Given the description of an element on the screen output the (x, y) to click on. 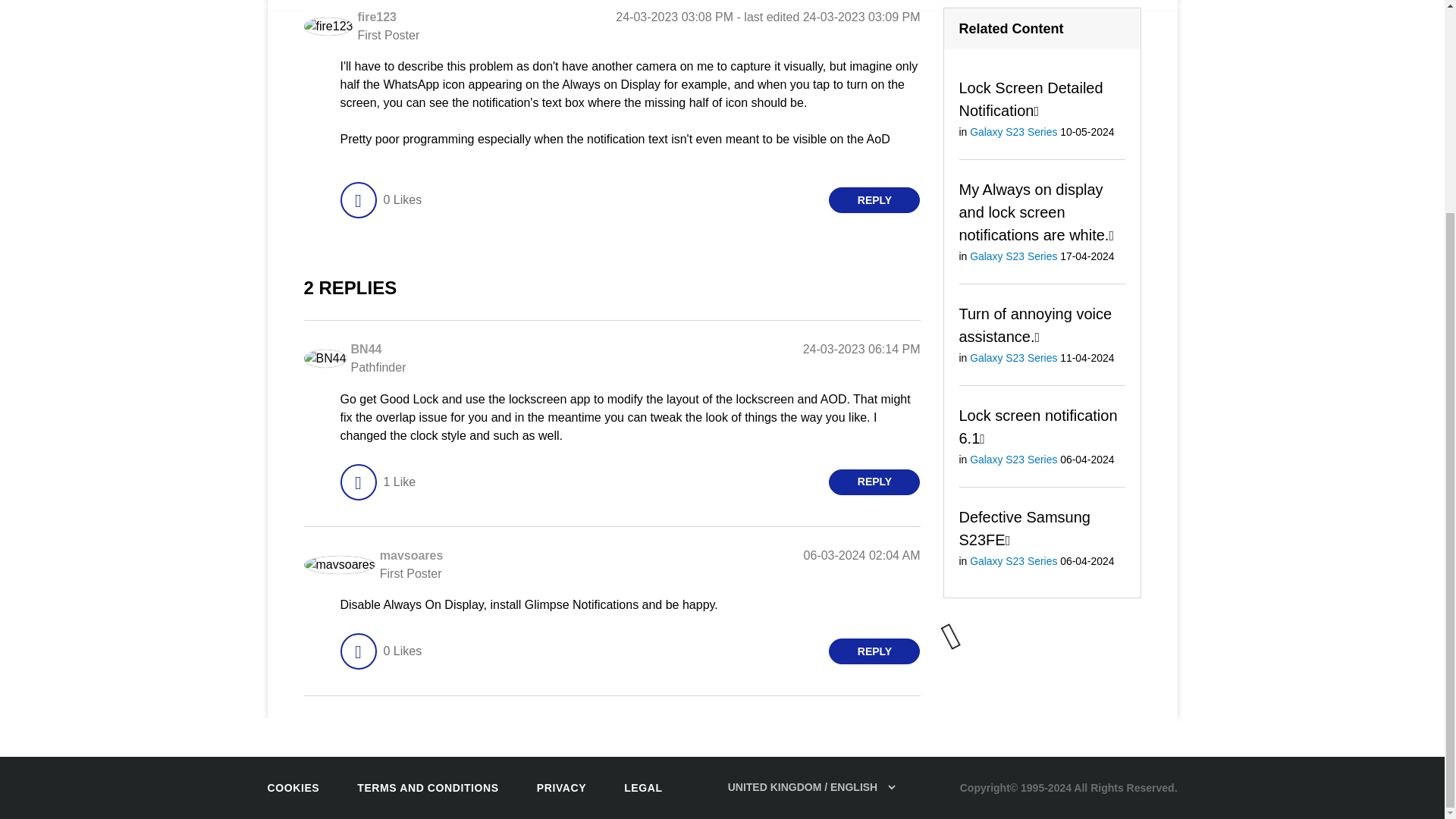
Click here to give likes to this post. (357, 199)
1 Like (398, 482)
REPLY (874, 199)
BN44 (365, 349)
fire123 (327, 26)
fire123 (376, 16)
The total number of likes this post has received. (401, 199)
